Given the description of an element on the screen output the (x, y) to click on. 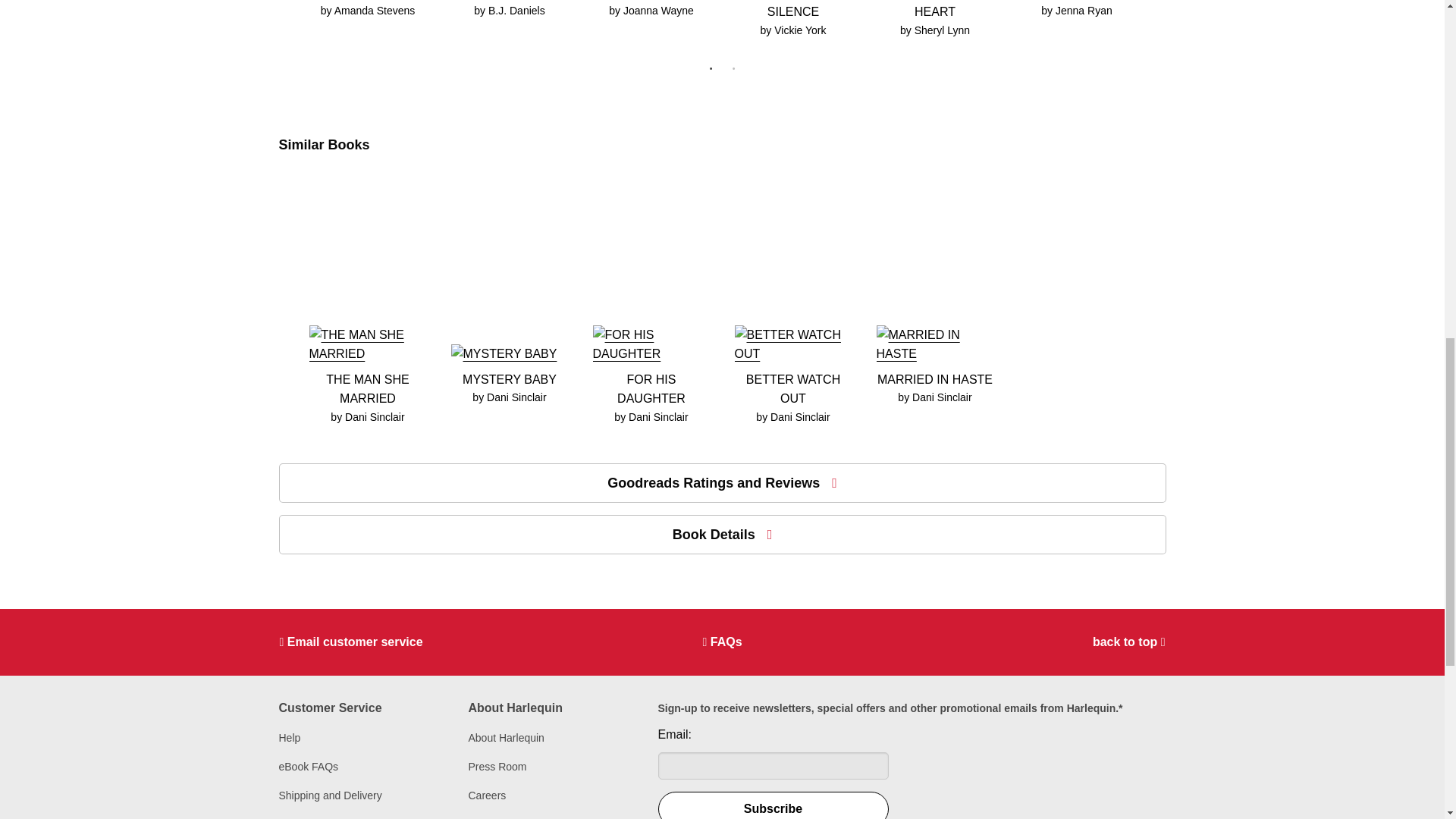
Search for other content by Amanda Stevens (374, 10)
Search for other content by B.J. Daniels (515, 10)
